Given the description of an element on the screen output the (x, y) to click on. 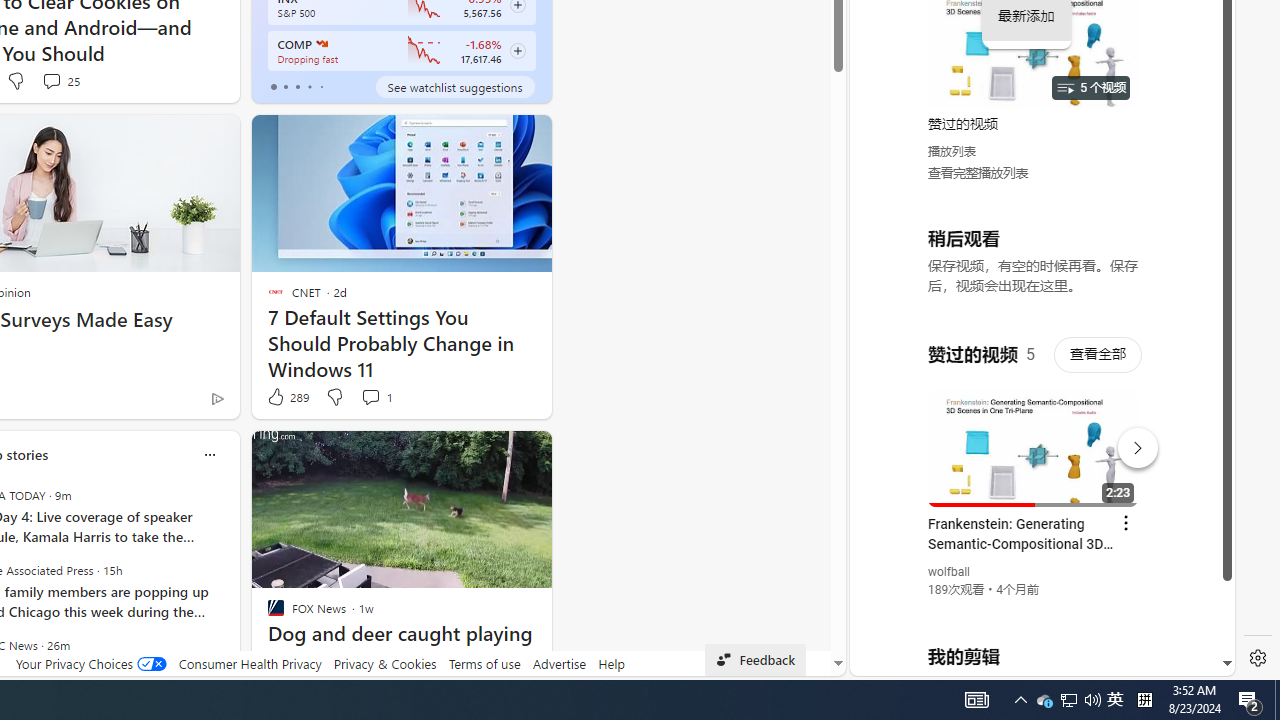
See watchlist suggestions (454, 86)
wolfball (949, 572)
NASDAQ (320, 43)
Hide this story (491, 454)
Class: follow-button  m (517, 51)
Your Privacy Choices (90, 663)
View comments 25 Comment (50, 80)
Class: dict_pnIcon rms_img (1028, 660)
tab-2 (297, 86)
